Given the description of an element on the screen output the (x, y) to click on. 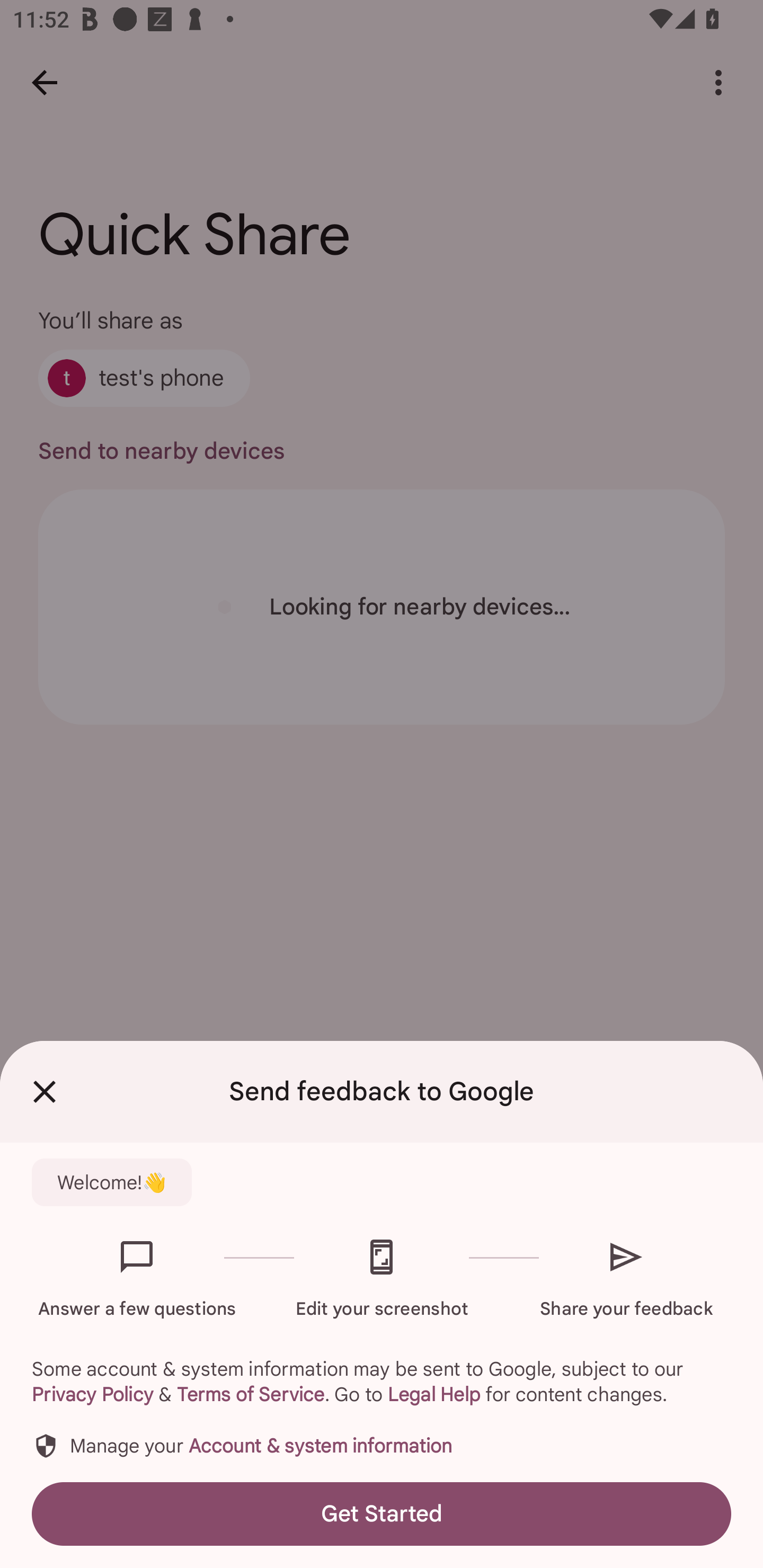
Close Feedback (44, 1091)
Get Started (381, 1513)
